Given the description of an element on the screen output the (x, y) to click on. 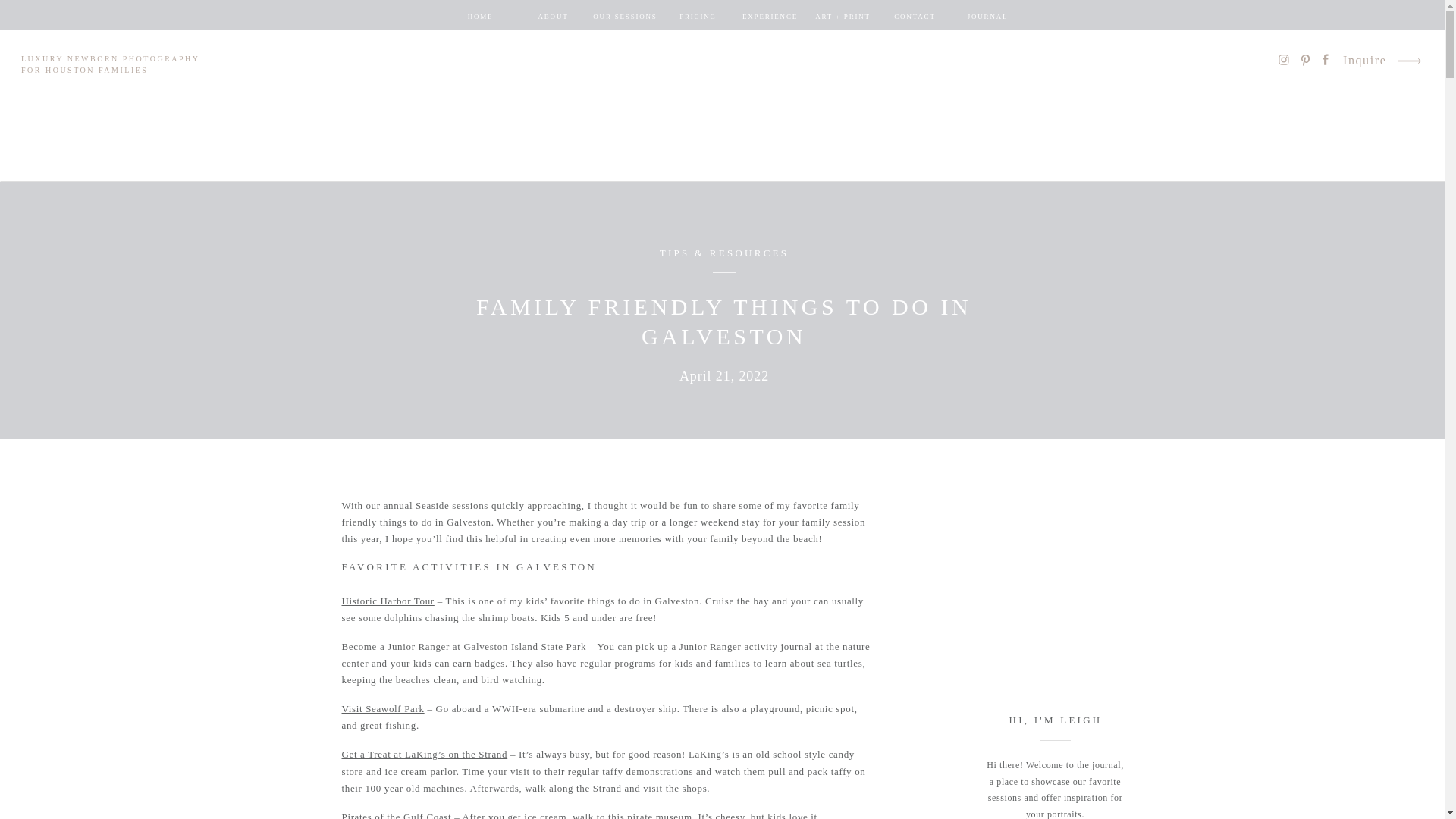
Become a Junior Ranger at Galveston Island State Park (463, 645)
JOURNAL (986, 17)
Historic Harbor Tour (386, 600)
OUR SESSIONS (624, 17)
HOME (479, 17)
arrow (1408, 60)
ABOUT (552, 17)
Inquire  (1364, 61)
Visit Seawolf Park (381, 708)
PRICING (696, 17)
